Given the description of an element on the screen output the (x, y) to click on. 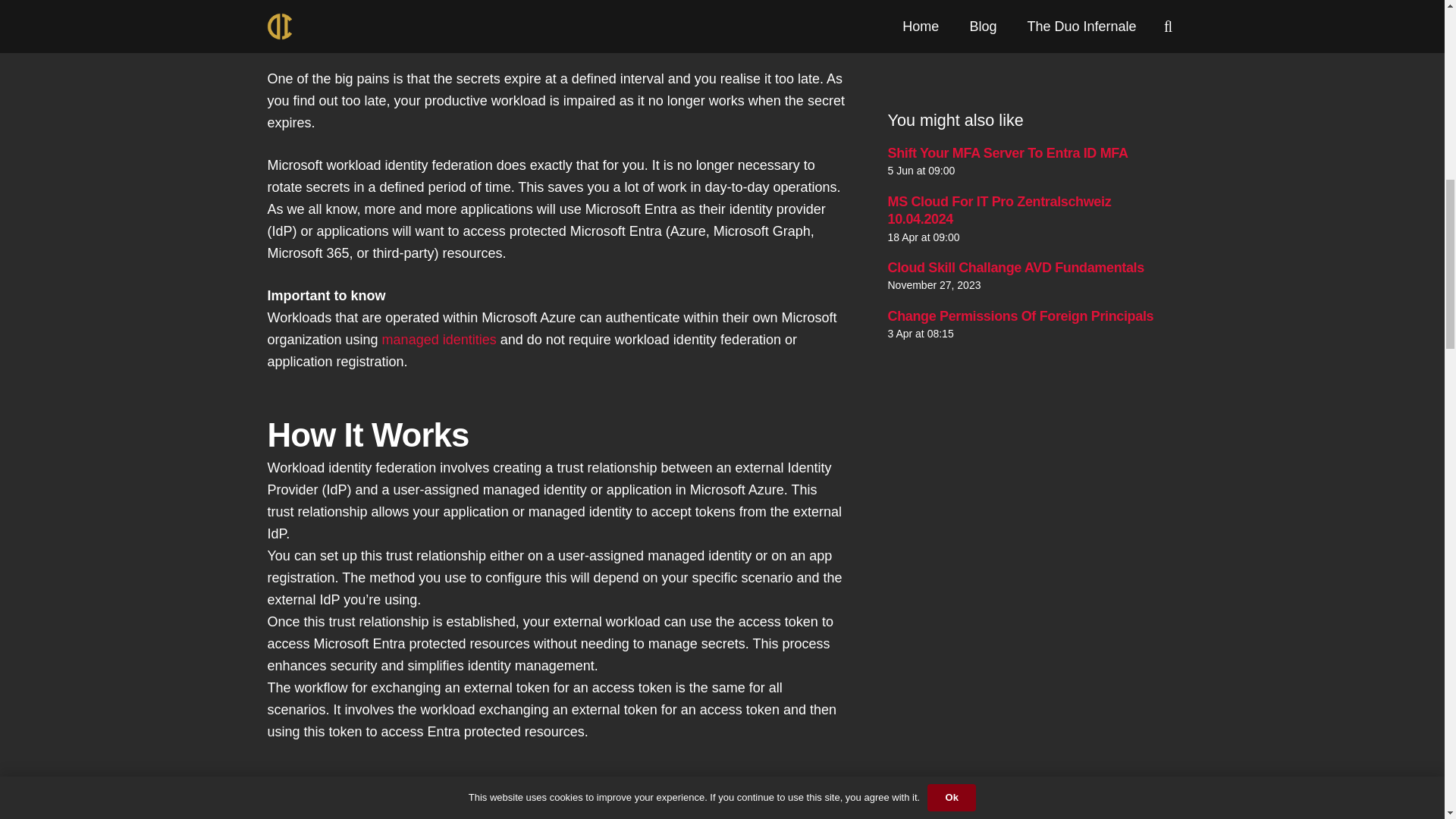
managed identities (438, 339)
Application registration (708, 14)
Back to top (1413, 26)
